Given the description of an element on the screen output the (x, y) to click on. 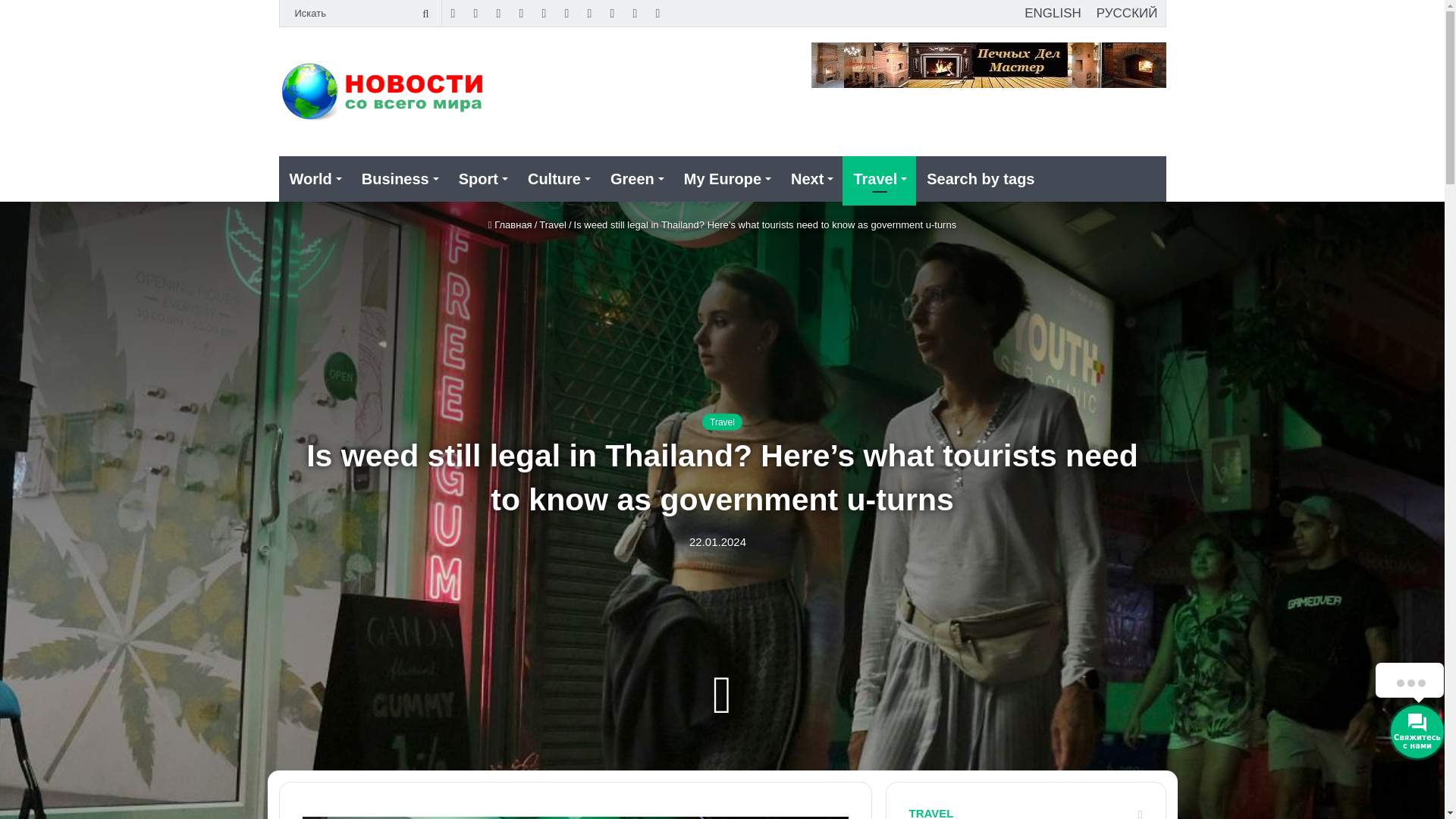
Sport (482, 178)
Next (811, 178)
My Europe (726, 178)
Travel (879, 178)
ENGLISH (1052, 13)
Business (399, 178)
Search by tags (980, 178)
Green (635, 178)
Travel (721, 422)
World (314, 178)
Travel (552, 224)
Culture (557, 178)
